Given the description of an element on the screen output the (x, y) to click on. 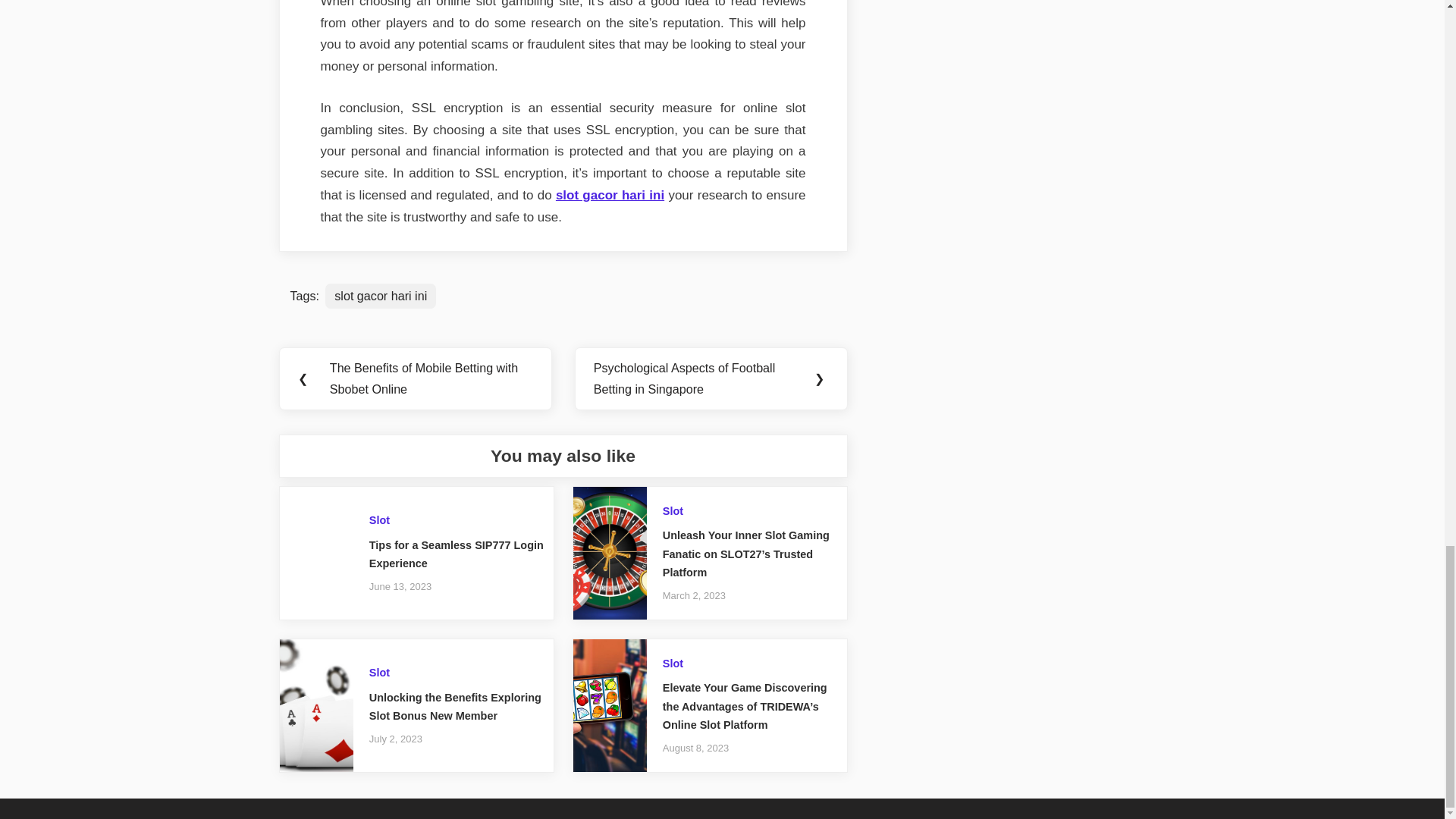
Slot (379, 520)
Slot (379, 672)
Unlocking the Benefits Exploring Slot Bonus New Member (455, 706)
Tips for a Seamless SIP777 Login Experience (456, 554)
slot gacor hari ini (609, 195)
Slot (672, 663)
Slot (672, 510)
slot gacor hari ini (379, 295)
